Given the description of an element on the screen output the (x, y) to click on. 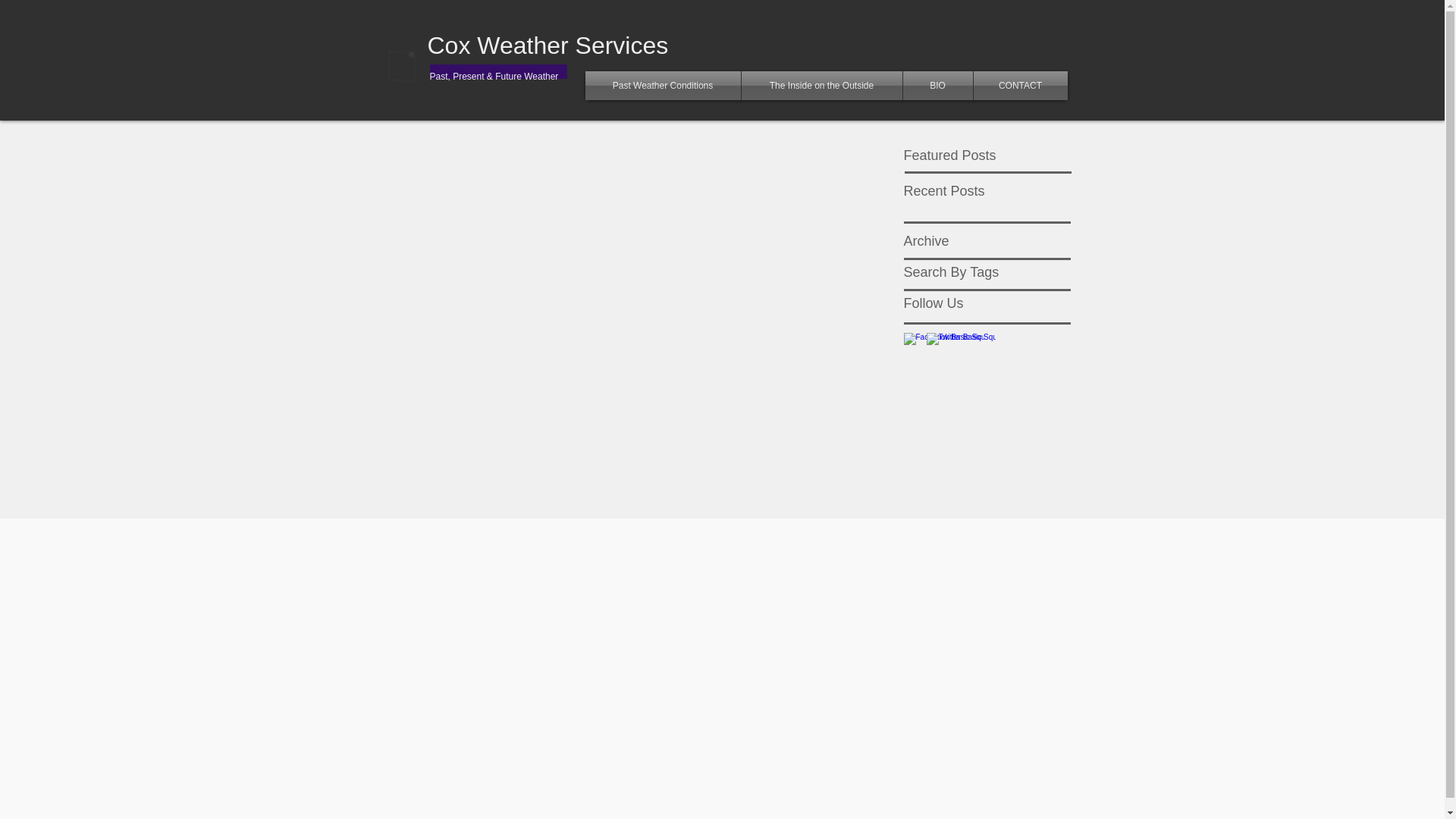
BIO (937, 85)
CONTACT (1020, 85)
The Inside on the Outside (821, 85)
Cox Weather Services (548, 44)
logo.jpg (416, 81)
Past Weather Conditions (663, 85)
